Given the description of an element on the screen output the (x, y) to click on. 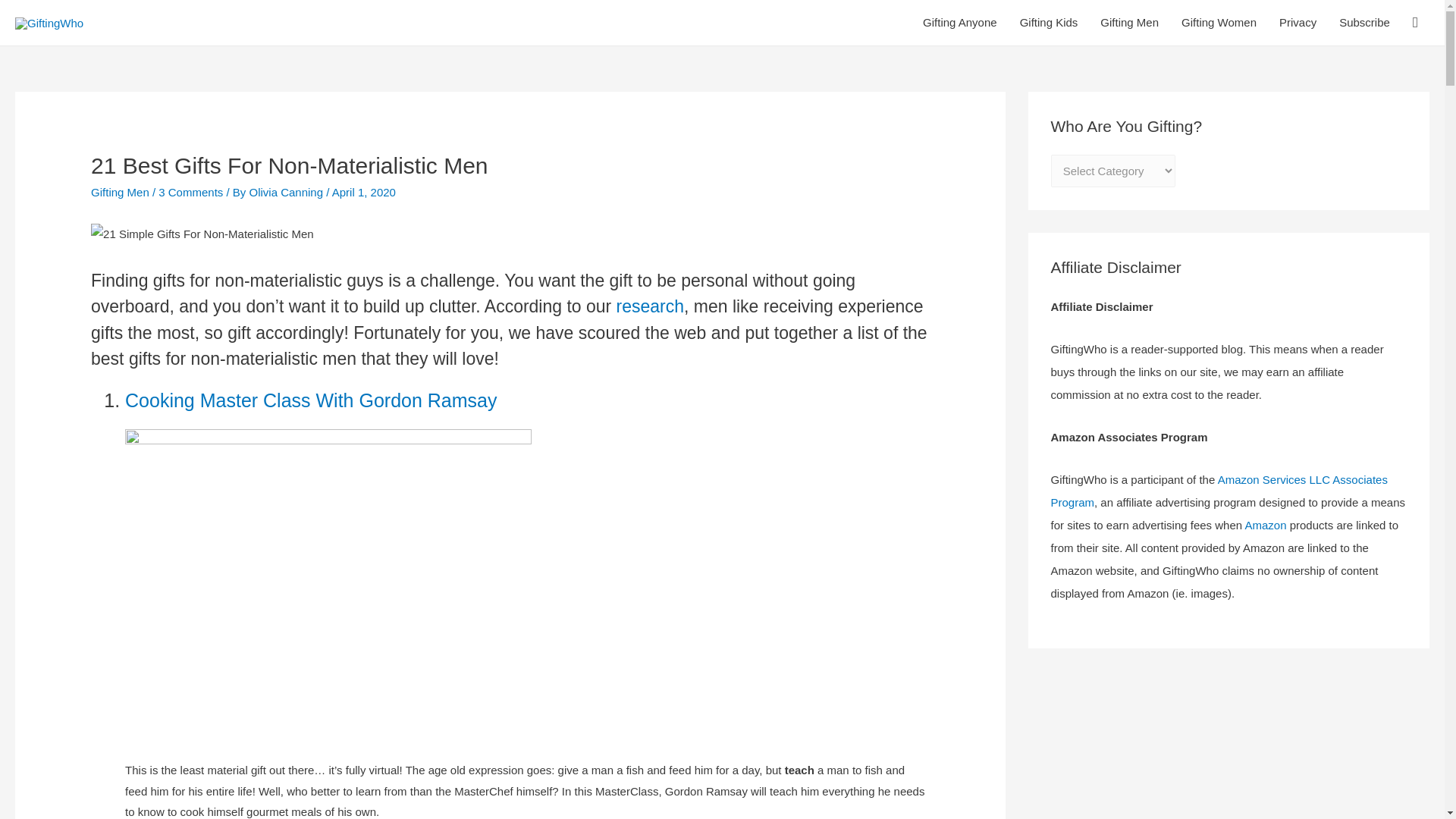
research (649, 306)
Gifting Kids (1049, 22)
Gifting Men (119, 192)
Gifting Men (1129, 22)
Cooking Master Class With Gordon Ramsay (310, 400)
Subscribe (1363, 22)
View all posts by Olivia Canning (287, 192)
Gifting Anyone (960, 22)
3 Comments (190, 192)
Search (32, 15)
